Given the description of an element on the screen output the (x, y) to click on. 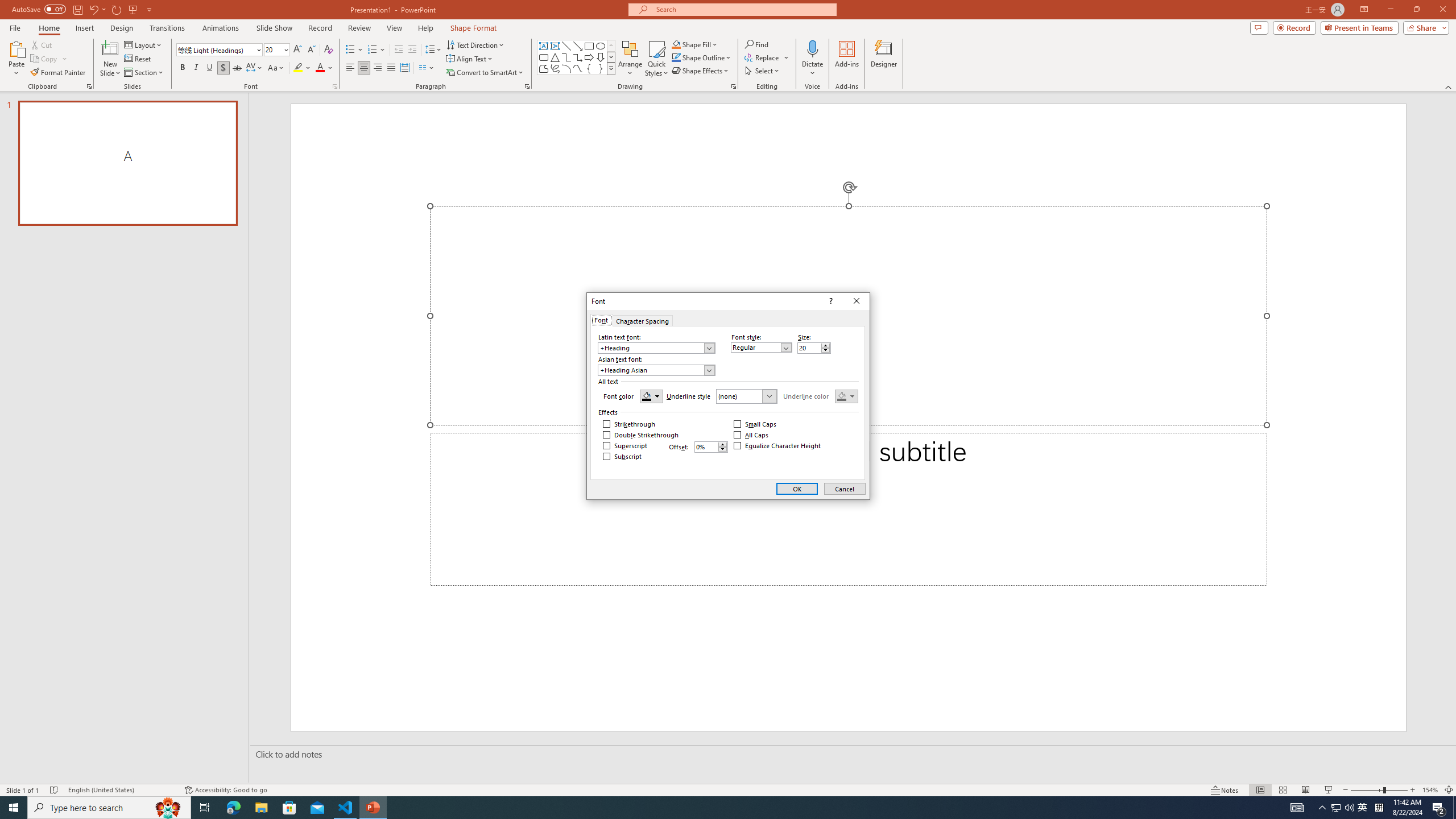
Font color RGB(0, 0, 0) (651, 396)
